Given the description of an element on the screen output the (x, y) to click on. 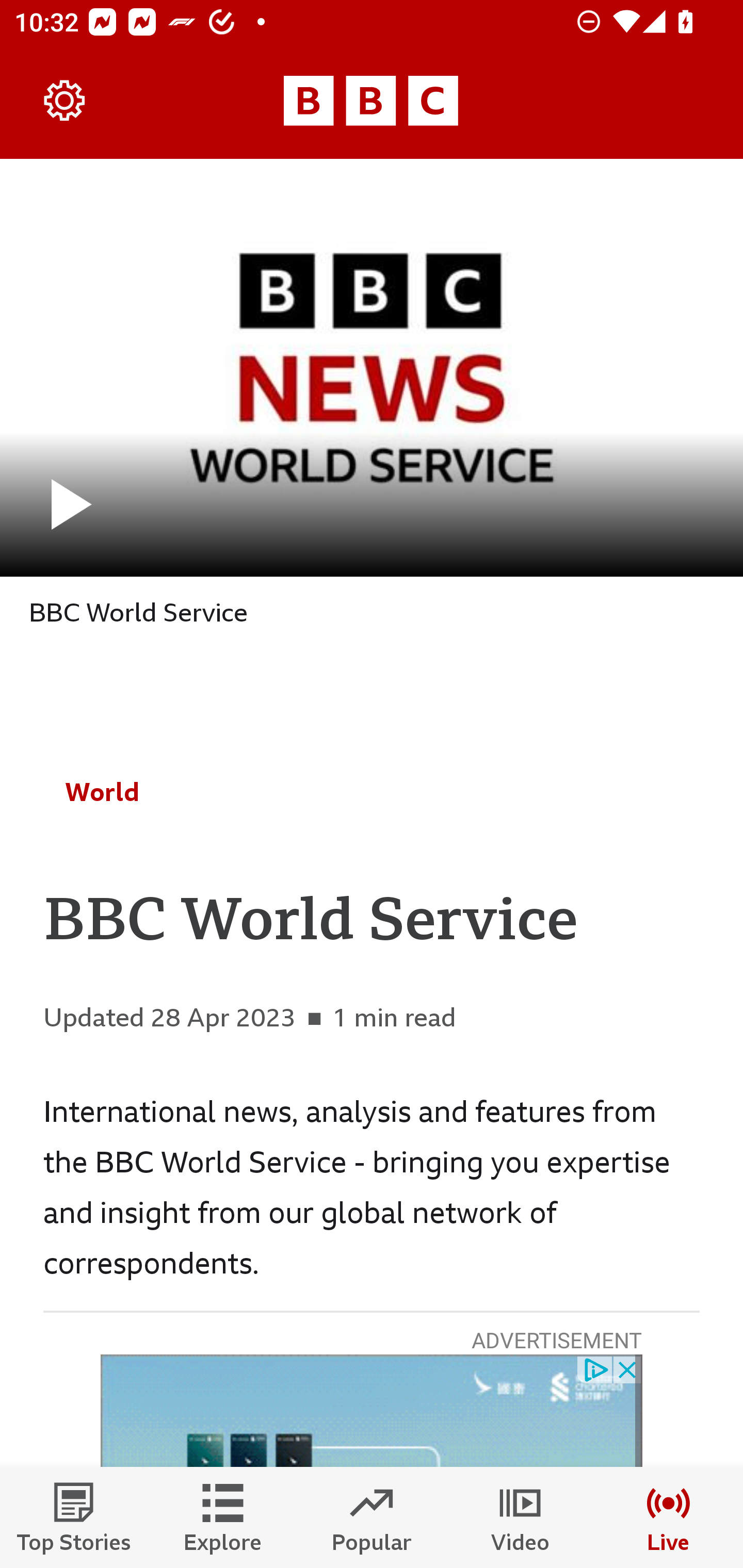
Settings (64, 100)
play fullscreen (371, 367)
World (102, 791)
Top Stories (74, 1517)
Explore (222, 1517)
Popular (371, 1517)
Video (519, 1517)
